Given the description of an element on the screen output the (x, y) to click on. 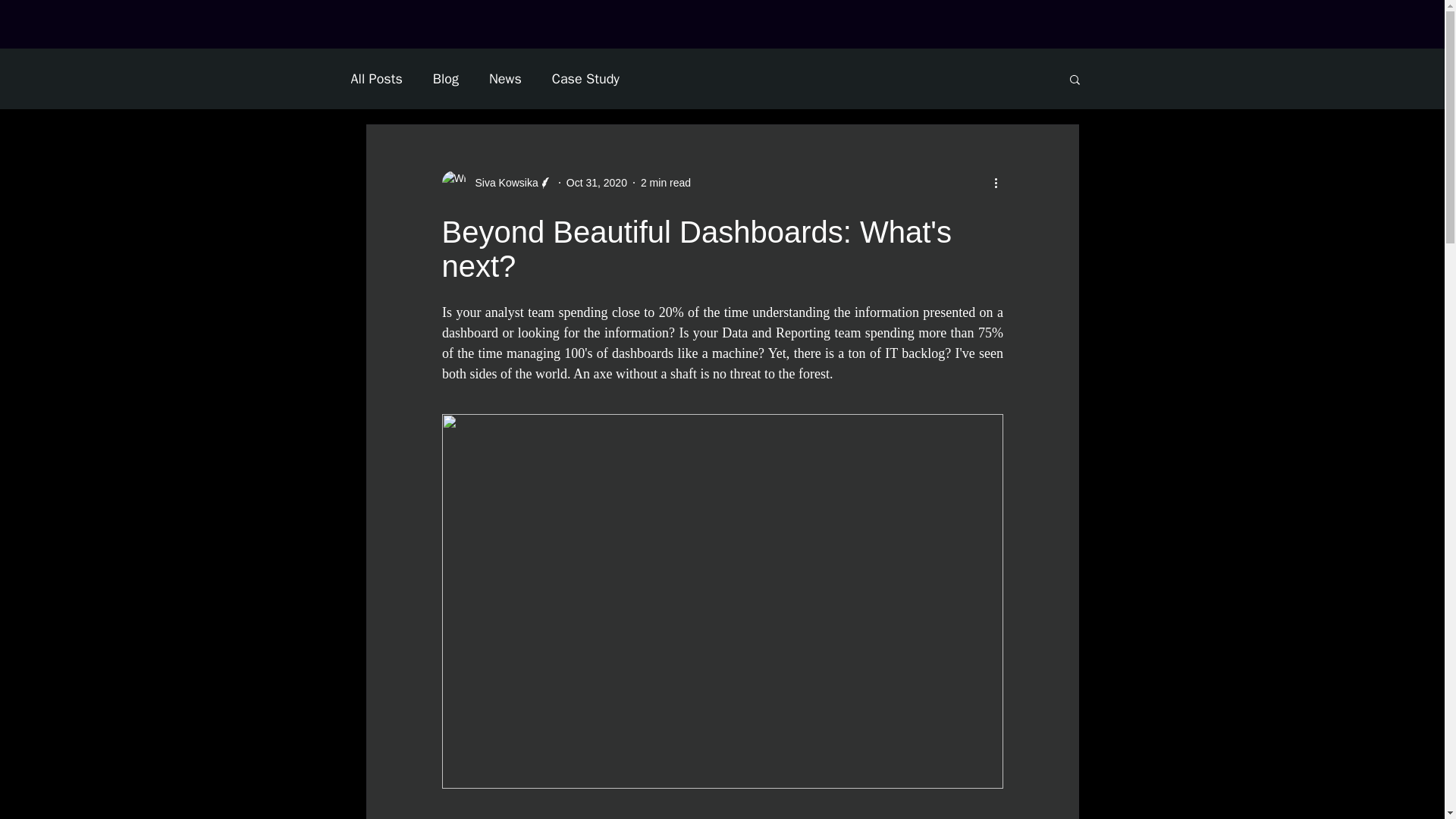
News (505, 78)
Oct 31, 2020 (596, 182)
Blog (445, 78)
All Posts (375, 78)
Siva Kowsika (496, 182)
Case Study (585, 78)
Siva Kowsika (501, 182)
2 min read (665, 182)
